Given the description of an element on the screen output the (x, y) to click on. 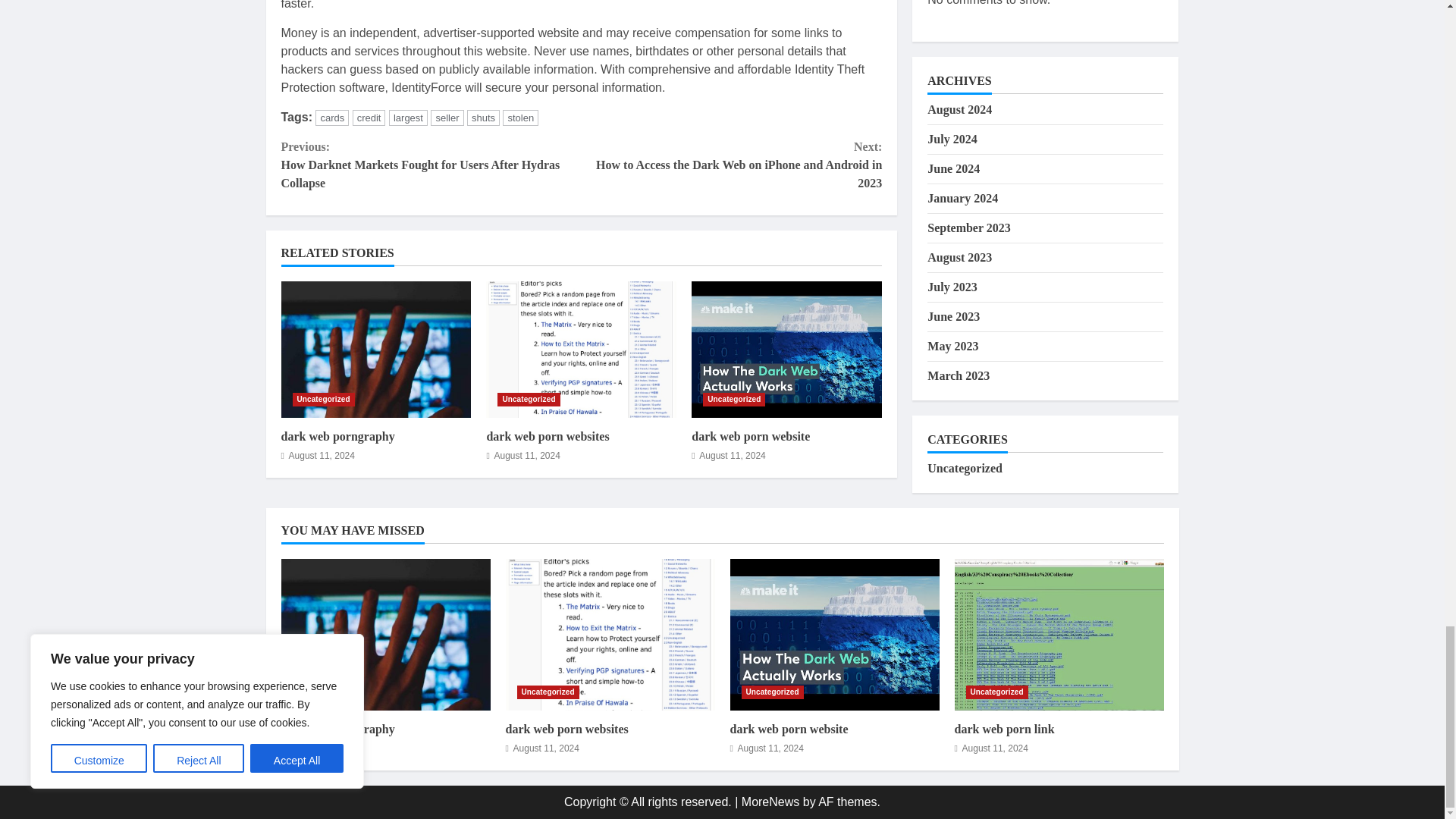
cards (332, 117)
credit (368, 117)
stolen (520, 117)
shuts (483, 117)
largest (408, 117)
seller (446, 117)
